Given the description of an element on the screen output the (x, y) to click on. 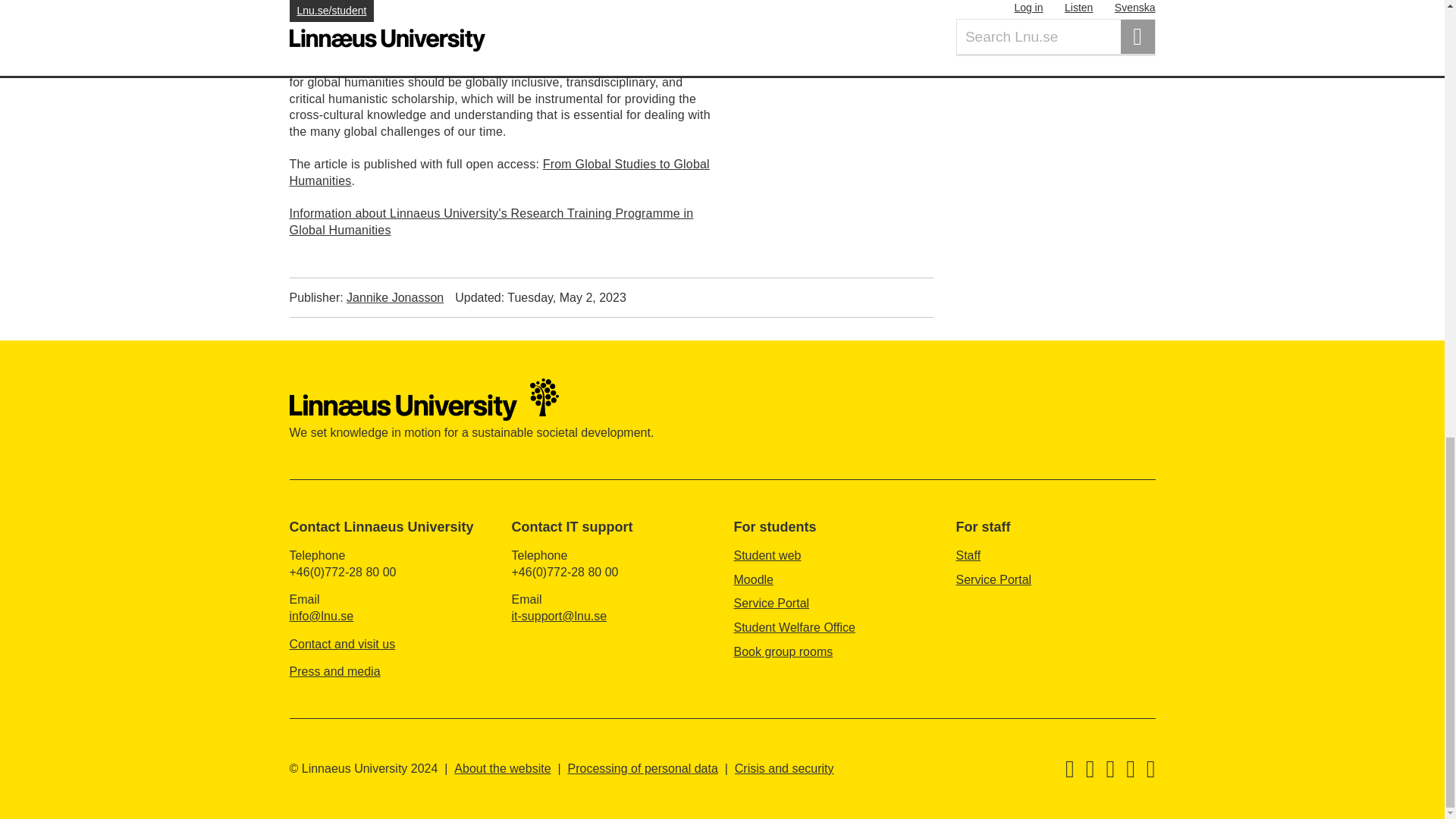
Updated (540, 297)
Publisher (366, 297)
Jannike Jonasson (395, 297)
Student Welfare Office (794, 626)
From Global Studies to Global Humanities (499, 172)
